Given the description of an element on the screen output the (x, y) to click on. 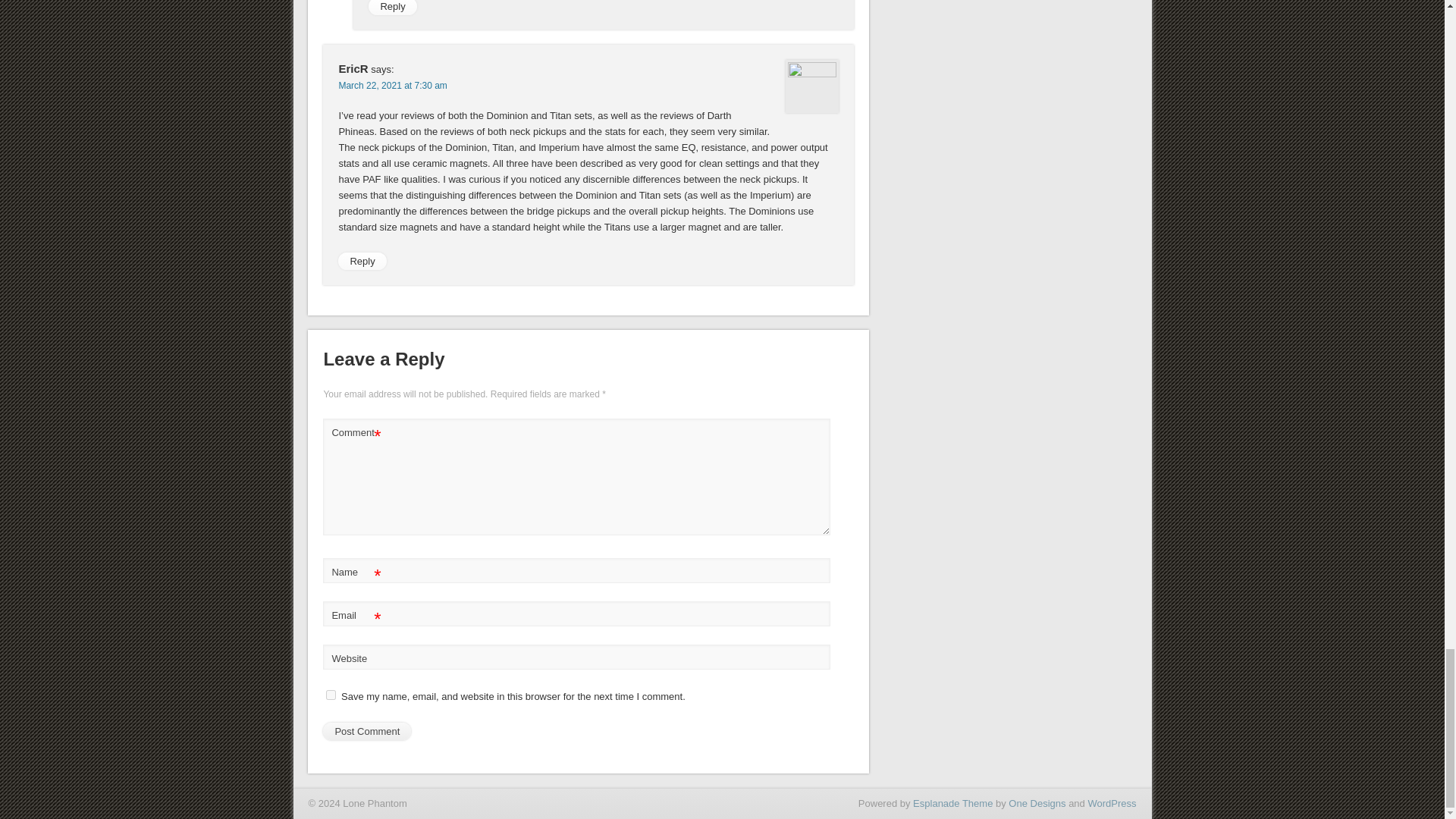
WordPress (1111, 803)
One Designs (1037, 803)
yes (331, 695)
Esplanade Theme (952, 803)
Post Comment (366, 731)
